Given the description of an element on the screen output the (x, y) to click on. 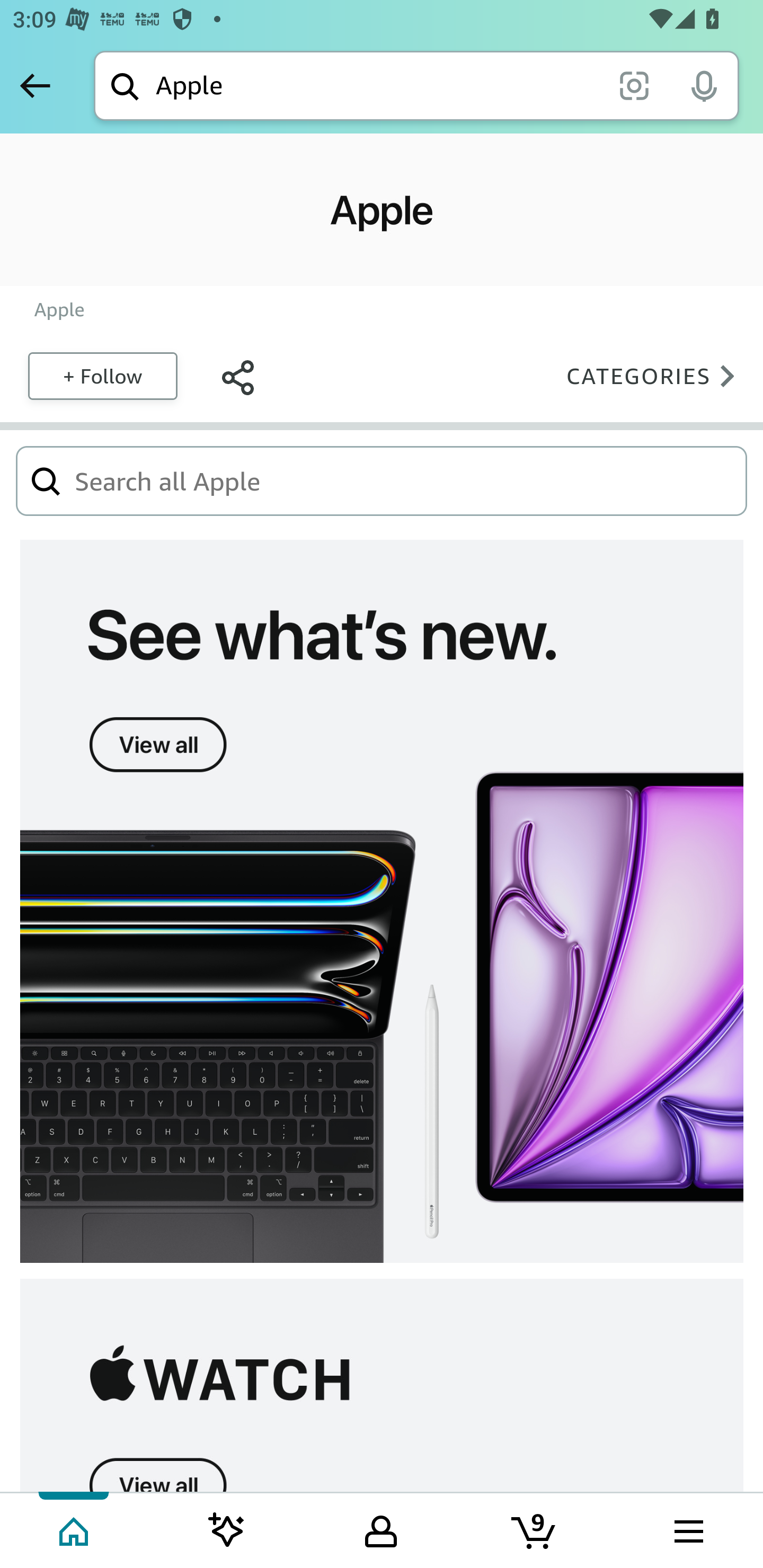
Back (35, 85)
scan it (633, 85)
Apple (59, 309)
Share (237, 375)
Follow Apple (101, 375)
CATEGORIES (656, 375)
Search (45, 480)
learn more (381, 901)
learn more (381, 1384)
Home Tab 1 of 5 (75, 1529)
Inspire feed Tab 2 of 5 (227, 1529)
Your Amazon.com Tab 3 of 5 (380, 1529)
Cart 9 items Tab 4 of 5 9 (534, 1529)
Browse menu Tab 5 of 5 (687, 1529)
